Given the description of an element on the screen output the (x, y) to click on. 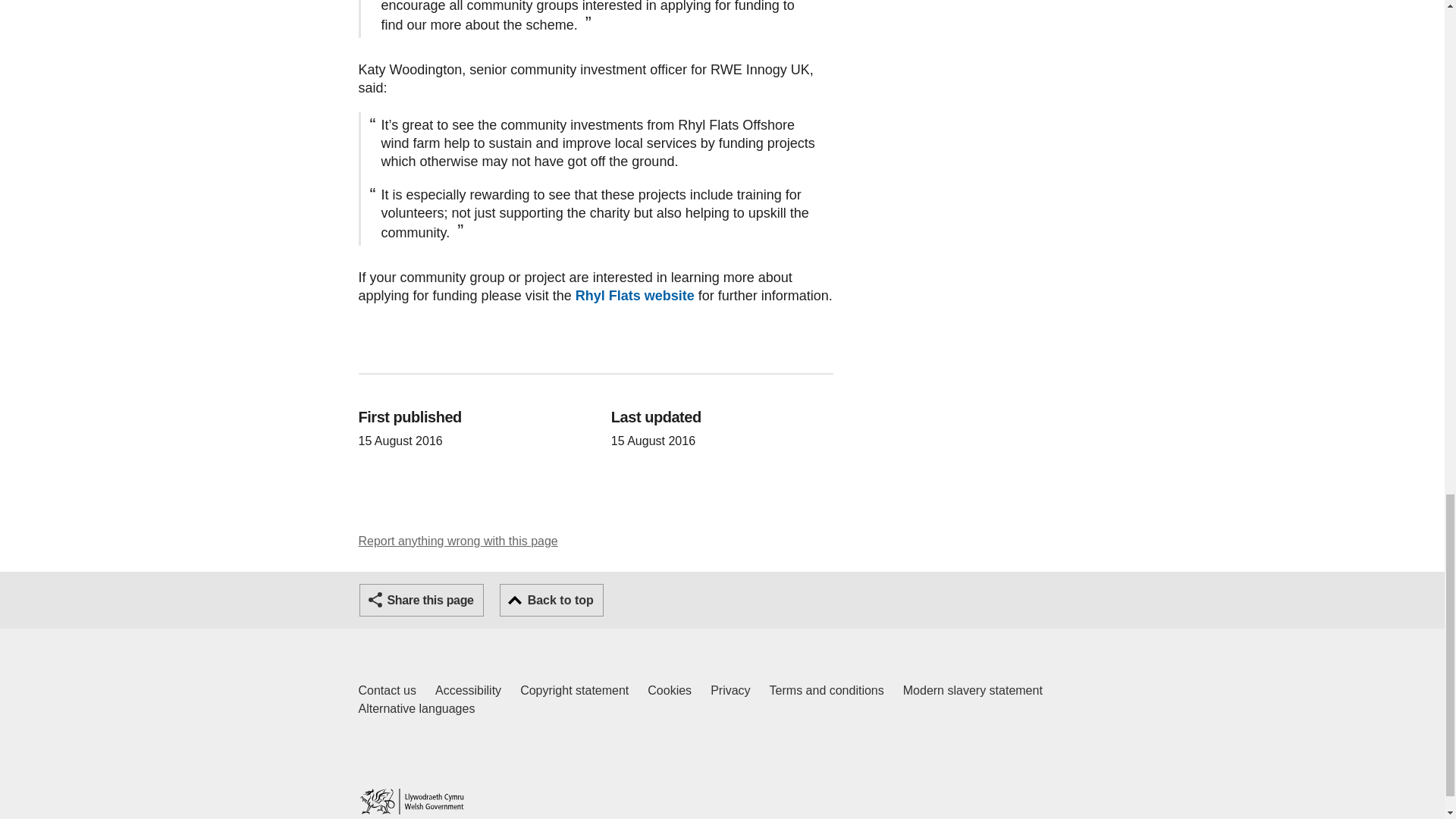
Home (411, 801)
Report anything wrong with this page (457, 540)
Alternative languages (416, 709)
Share this page (421, 599)
Copyright statement (573, 690)
Back to top (551, 599)
Cookies (669, 690)
Terms and conditions (386, 690)
Accessibility (826, 690)
